Given the description of an element on the screen output the (x, y) to click on. 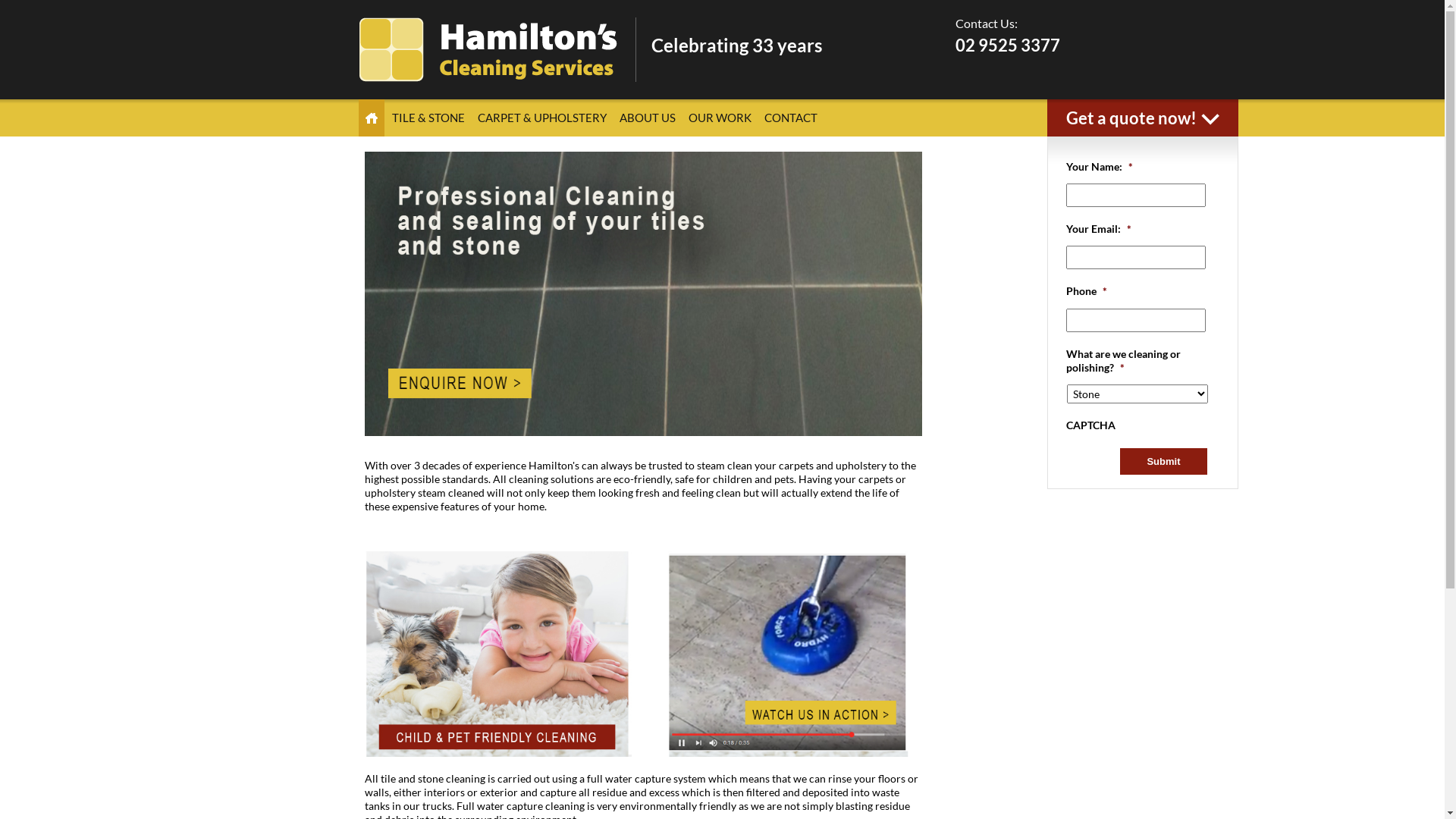
Tile cleaning in action Element type: hover (787, 653)
CARPET & UPHOLSTERY Element type: text (541, 117)
Submit Element type: text (1163, 461)
TILE & STONE Element type: text (428, 117)
HOME Element type: text (370, 117)
Hamilton's Cleaning Element type: text (486, 49)
ABOUT US Element type: text (647, 117)
child and pet friendly cleaning products Element type: hover (497, 653)
CONTACT Element type: text (790, 117)
OUR WORK Element type: text (719, 117)
